Given the description of an element on the screen output the (x, y) to click on. 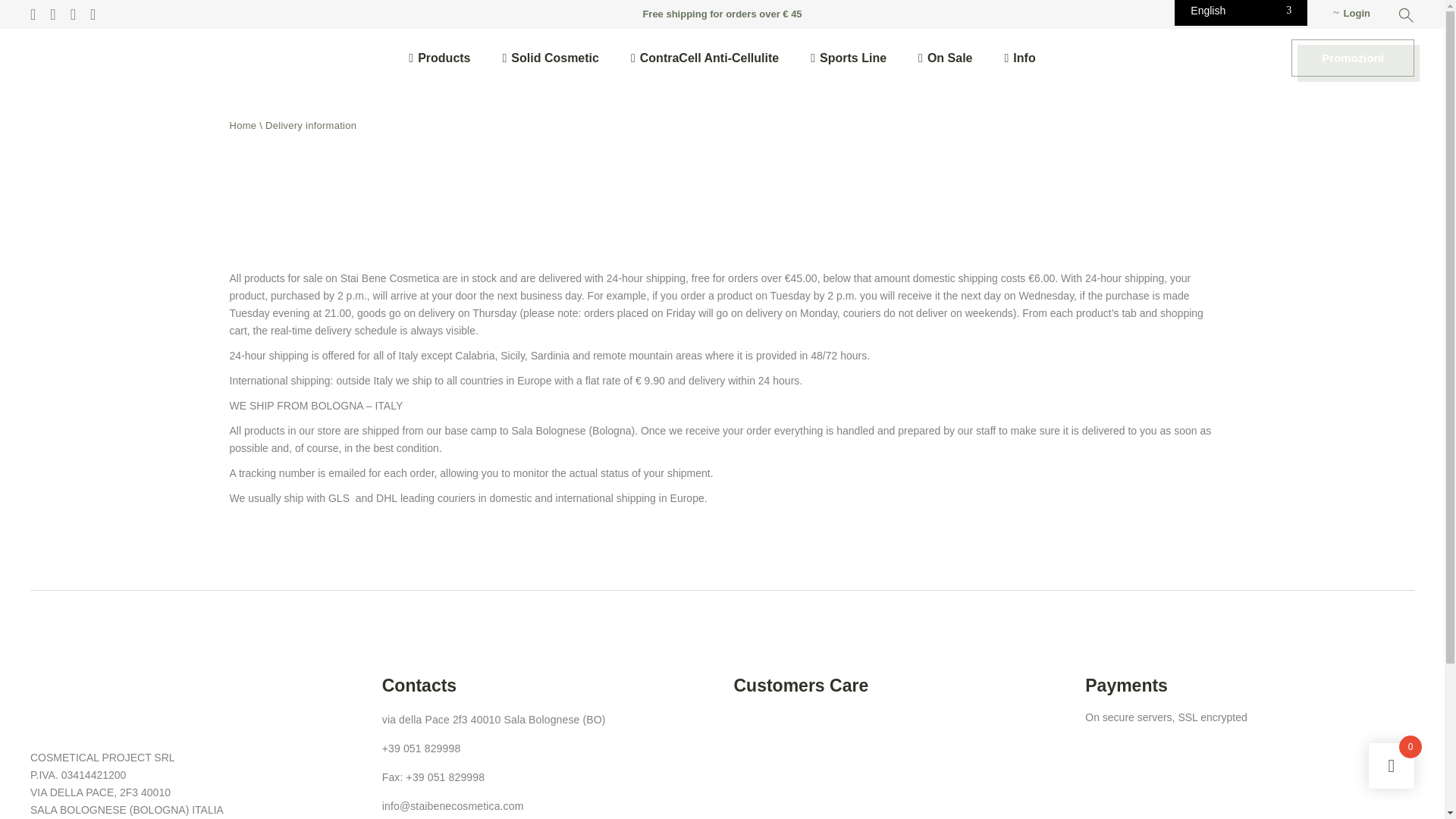
English (1240, 12)
Products (439, 57)
Login (1351, 13)
